Given the description of an element on the screen output the (x, y) to click on. 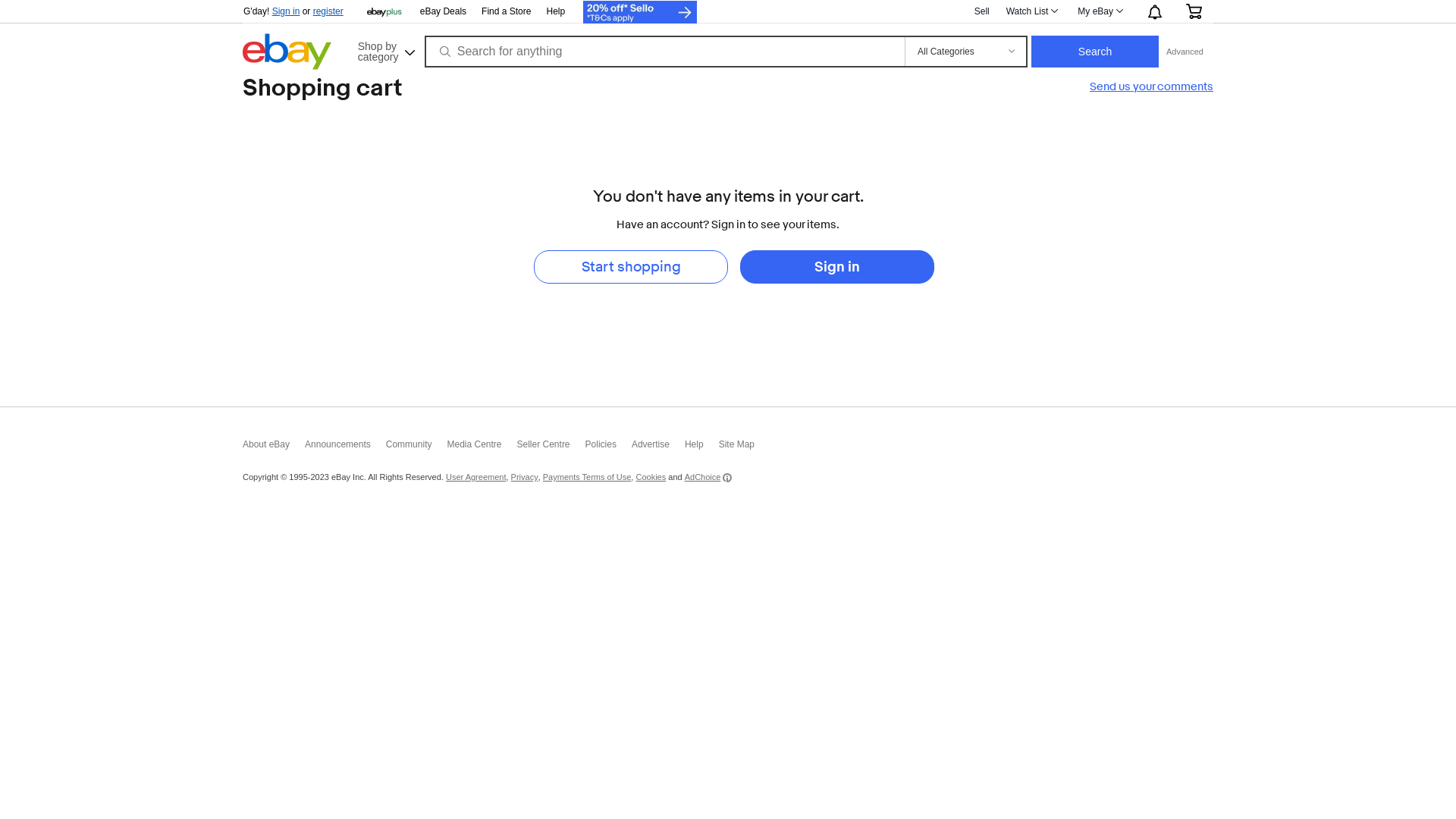
Search Element type: text (1094, 51)
Advanced Element type: text (1184, 51)
Send us your comments Element type: text (1151, 86)
Privacy Element type: text (524, 477)
Help Element type: text (701, 447)
Start shopping Element type: text (630, 266)
AdChoice Element type: text (708, 477)
Cookies Element type: text (650, 477)
Media Centre Element type: text (481, 447)
About eBay Element type: text (273, 447)
register Element type: text (328, 11)
Policies Element type: text (608, 447)
Community Element type: text (416, 447)
load bk Element type: hover (242, 83)
Advertise Element type: text (657, 447)
My eBay Element type: text (1099, 11)
Announcements Element type: text (344, 447)
Payments Terms of Use Element type: text (586, 477)
Watch List Element type: text (1031, 11)
Sell Element type: text (981, 11)
Shop by category Element type: text (385, 49)
eBay Deals Element type: text (443, 11)
Sign in Element type: text (286, 11)
Find a Store Element type: text (505, 11)
Help Element type: text (555, 11)
Site Map Element type: text (743, 447)
Sign in Element type: text (837, 266)
User Agreement Element type: text (475, 477)
Notification Element type: text (1153, 10)
Seller Centre Element type: text (551, 447)
